Given the description of an element on the screen output the (x, y) to click on. 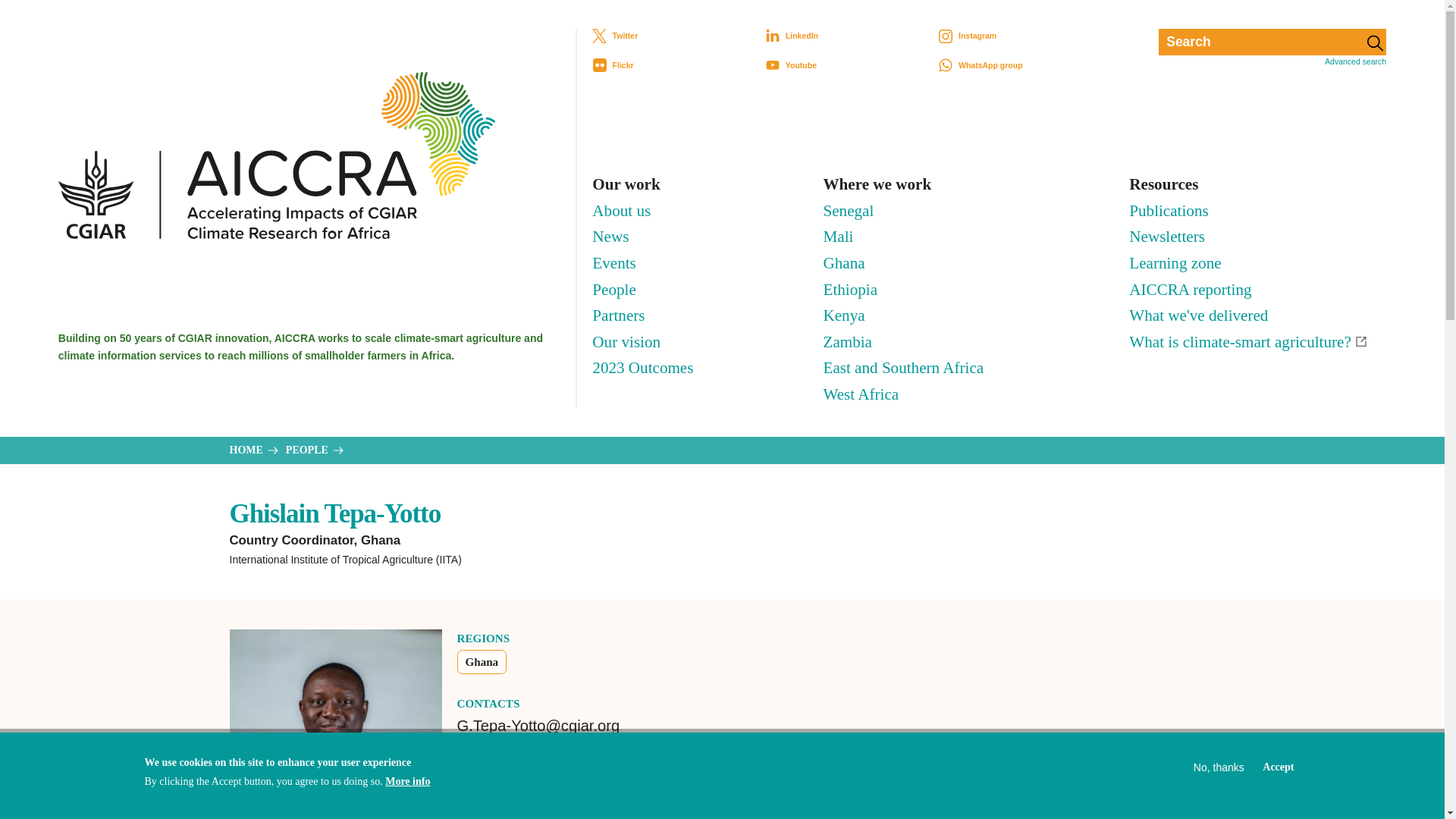
Partners (618, 315)
Ghana (482, 662)
About us (621, 211)
Flickr (678, 65)
HOME (253, 450)
2023 Outcomes (642, 367)
East and Southern Africa (904, 367)
Mali (838, 236)
News (610, 236)
WhatsApp group (1025, 65)
What we've delivered (1198, 315)
West Africa (861, 394)
People (613, 289)
Our vision (626, 342)
Newsletters (1167, 236)
